Given the description of an element on the screen output the (x, y) to click on. 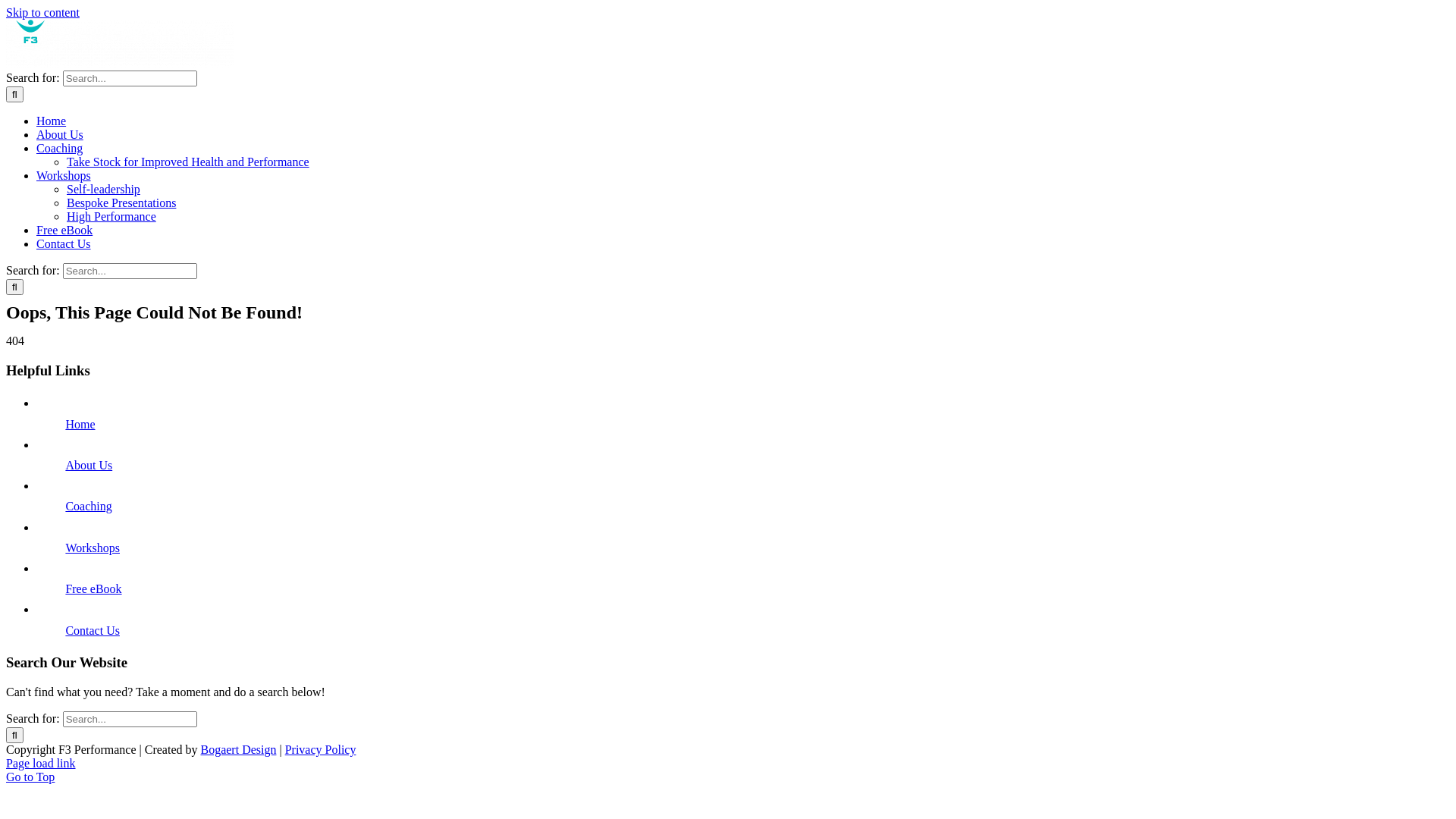
Coaching Element type: text (59, 147)
About Us Element type: text (88, 464)
About Us Element type: text (59, 134)
Home Element type: text (79, 423)
Workshops Element type: text (92, 547)
Privacy Policy Element type: text (320, 749)
Home Element type: text (50, 120)
Go to Top Element type: text (30, 776)
Bogaert Design Element type: text (238, 749)
High Performance Element type: text (111, 216)
Workshops Element type: text (63, 175)
Bespoke Presentations Element type: text (120, 202)
Contact Us Element type: text (63, 243)
Free eBook Element type: text (64, 229)
Skip to content Element type: text (42, 12)
Take Stock for Improved Health and Performance Element type: text (187, 161)
Free eBook Element type: text (93, 588)
Coaching Element type: text (88, 505)
Page load link Element type: text (40, 762)
Contact Us Element type: text (92, 629)
Self-leadership Element type: text (103, 188)
